Given the description of an element on the screen output the (x, y) to click on. 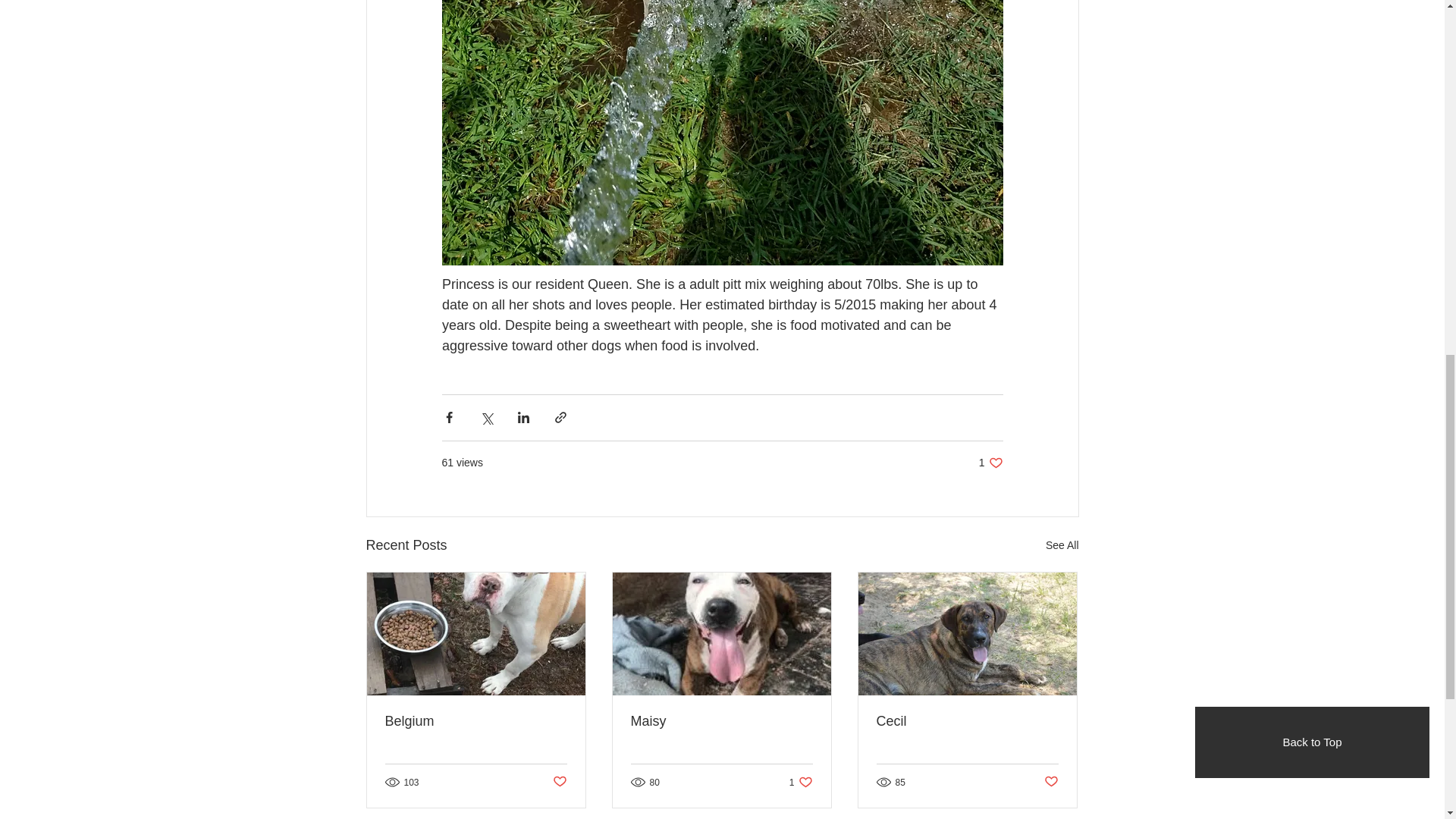
Cecil (967, 721)
See All (1061, 545)
Post not marked as liked (558, 781)
Belgium (800, 781)
Post not marked as liked (476, 721)
Maisy (1050, 781)
